Given the description of an element on the screen output the (x, y) to click on. 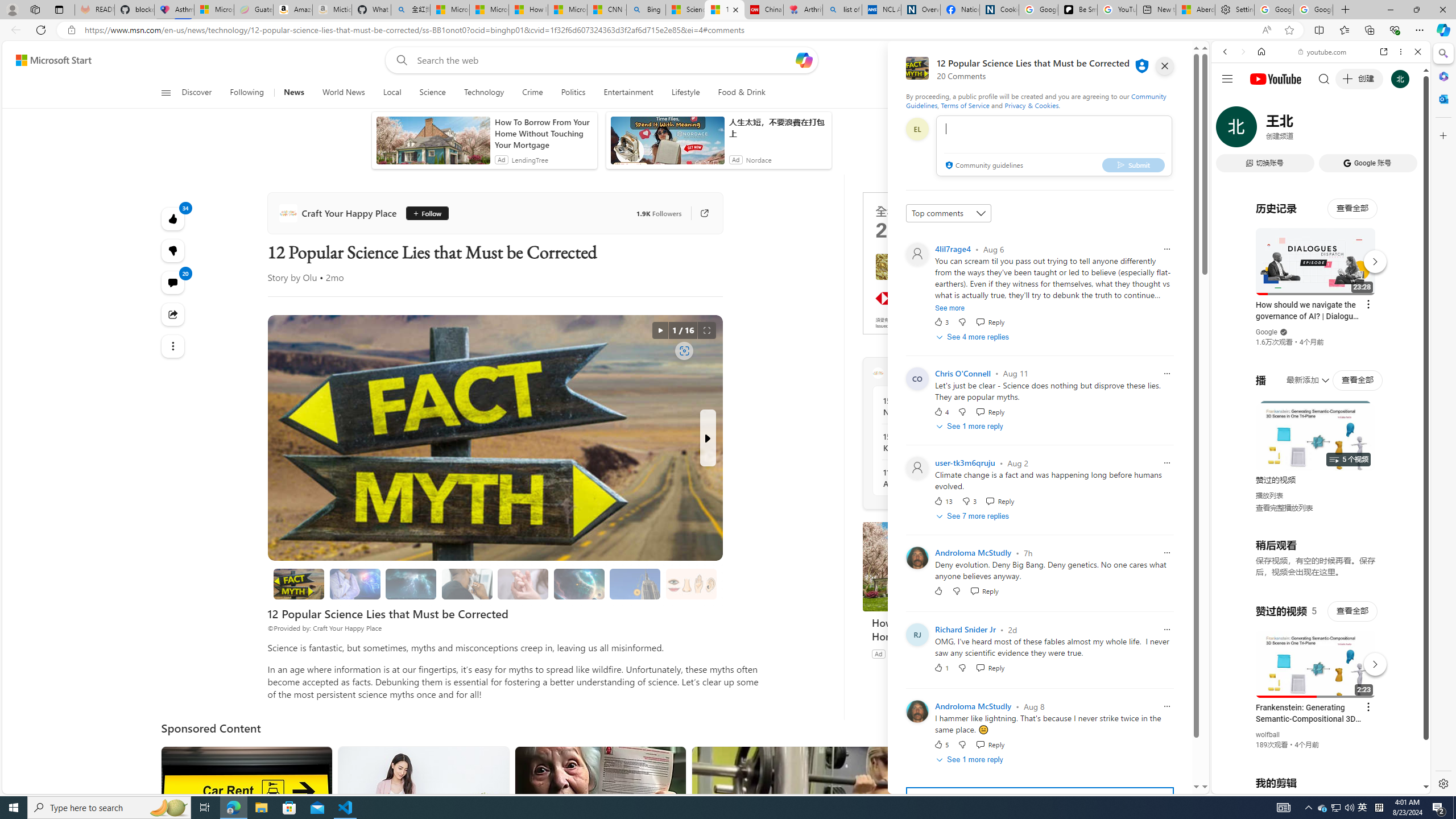
Google (1320, 281)
15 Rare Dog Breeds You Never Knew Existed (944, 441)
Class: qc-adchoices-icon (1028, 196)
CNN - MSN (606, 9)
Profile Picture (916, 711)
